Given the description of an element on the screen output the (x, y) to click on. 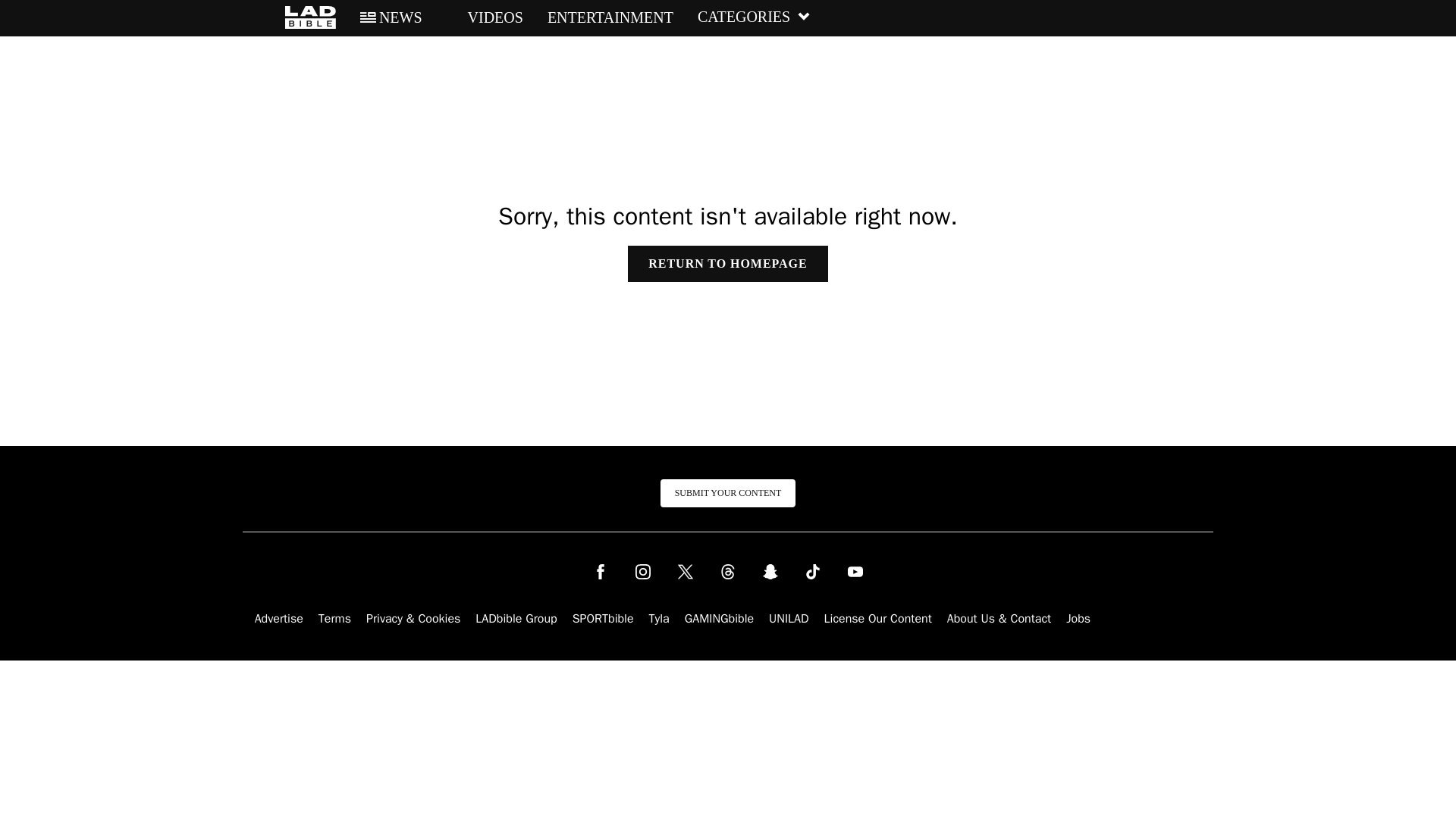
VIDEOS (484, 17)
ENTERTAINMENT (609, 17)
RETURN TO HOMEPAGE (727, 263)
Advertise (278, 618)
NEWS (390, 17)
CATEGORIES (753, 17)
